Given the description of an element on the screen output the (x, y) to click on. 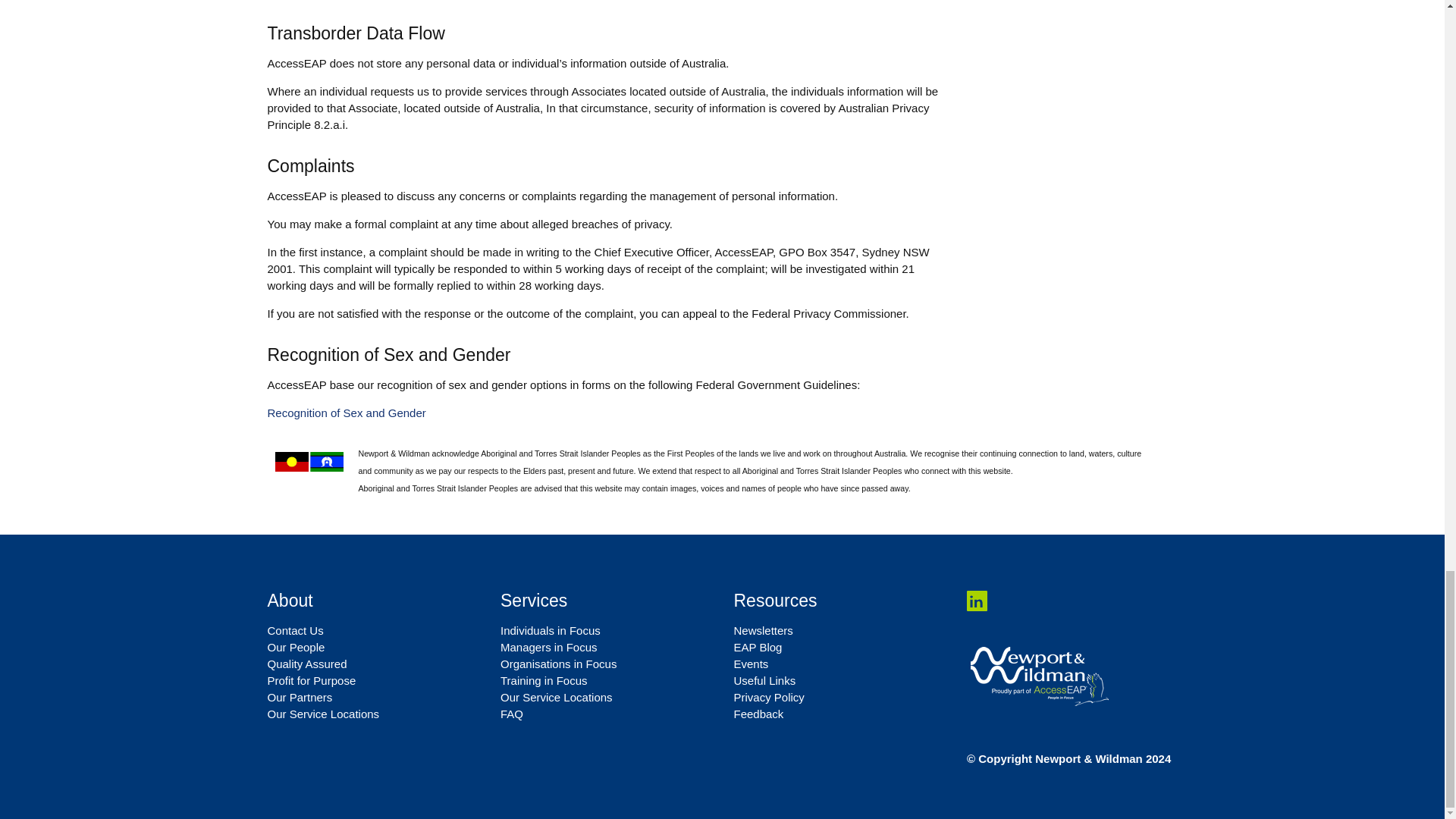
Contact Us (294, 630)
About (289, 600)
Events (750, 663)
Our People (295, 646)
Quality Assured (306, 663)
Recognition of Sex and Gender (345, 412)
Managers in Focus (548, 646)
Services (533, 600)
Our Service Locations (322, 713)
Organisations in Focus (557, 663)
Profit for Purpose (310, 680)
Training in Focus (544, 680)
Individuals in Focus (549, 630)
Our Partners (298, 697)
Resources (774, 600)
